Given the description of an element on the screen output the (x, y) to click on. 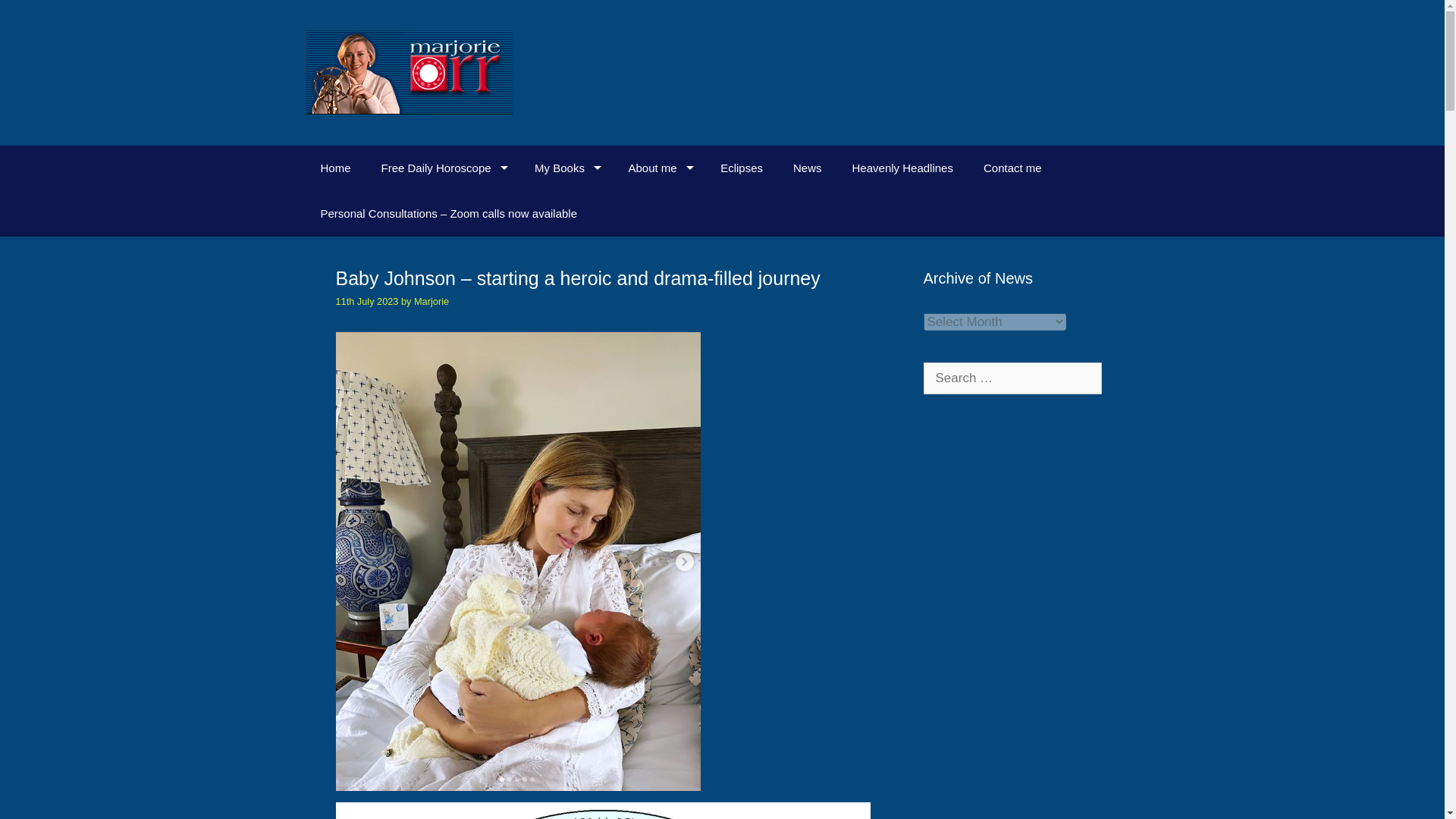
3:33 pm (365, 301)
Heavenly Headlines (902, 167)
Home (334, 167)
Search for: (1012, 377)
News (807, 167)
Free Daily Horoscope (442, 167)
About me (658, 167)
Contact me (1012, 167)
Marjorie (430, 301)
11th July 2023 (365, 301)
